Given the description of an element on the screen output the (x, y) to click on. 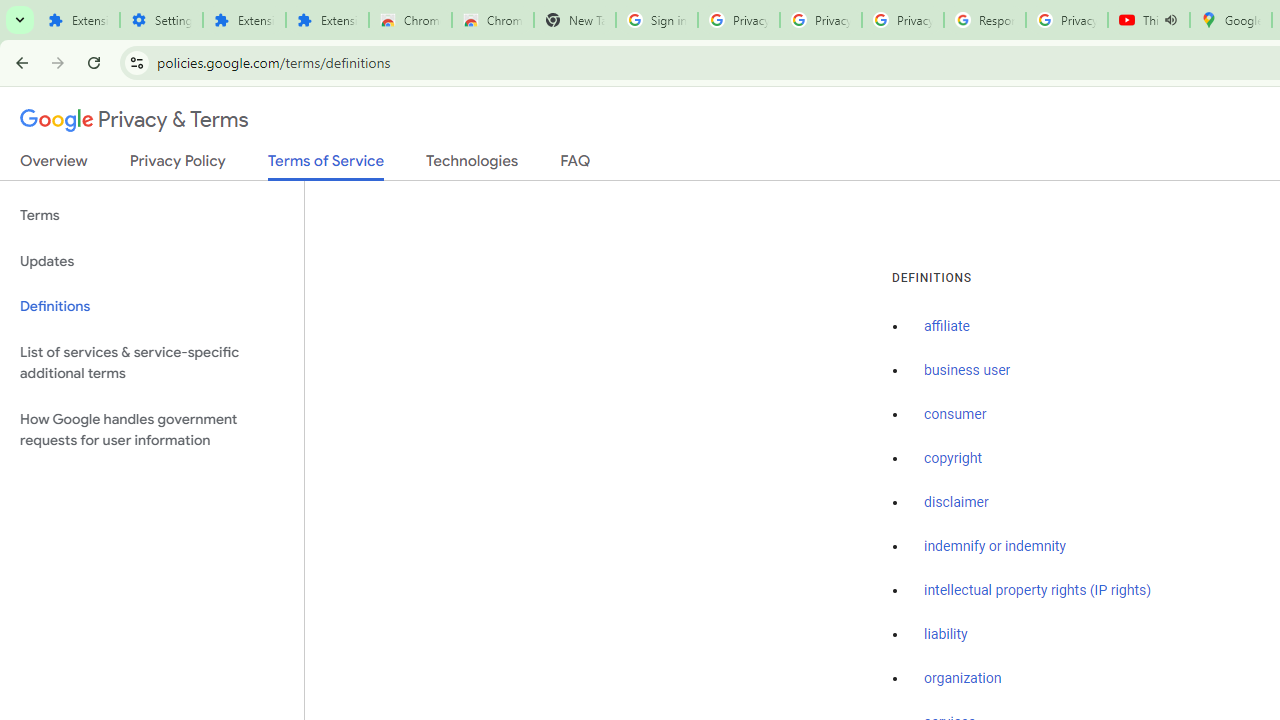
Settings (161, 20)
indemnify or indemnity (995, 546)
New Tab (574, 20)
List of services & service-specific additional terms (152, 362)
liability (945, 634)
How Google handles government requests for user information (152, 429)
organization (963, 679)
Extensions (78, 20)
